Given the description of an element on the screen output the (x, y) to click on. 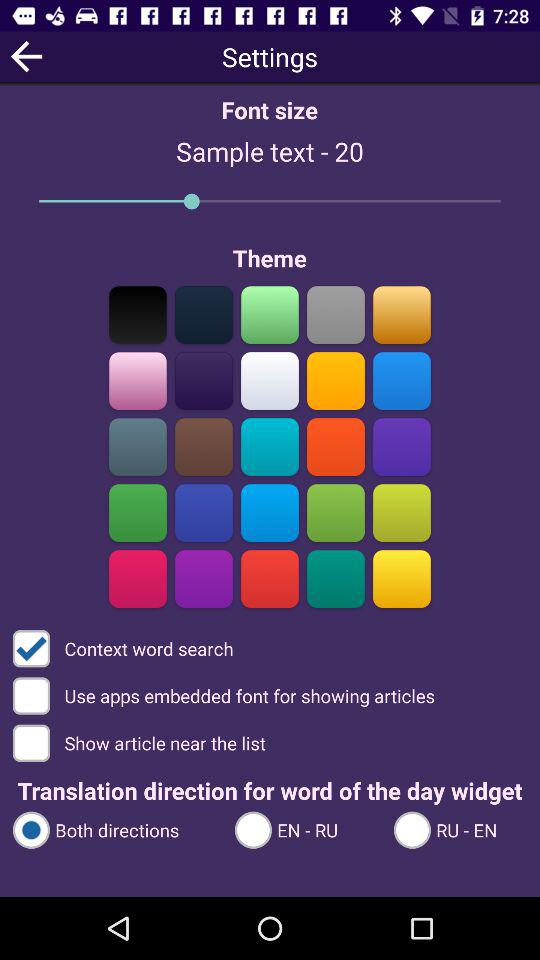
back (26, 56)
